Given the description of an element on the screen output the (x, y) to click on. 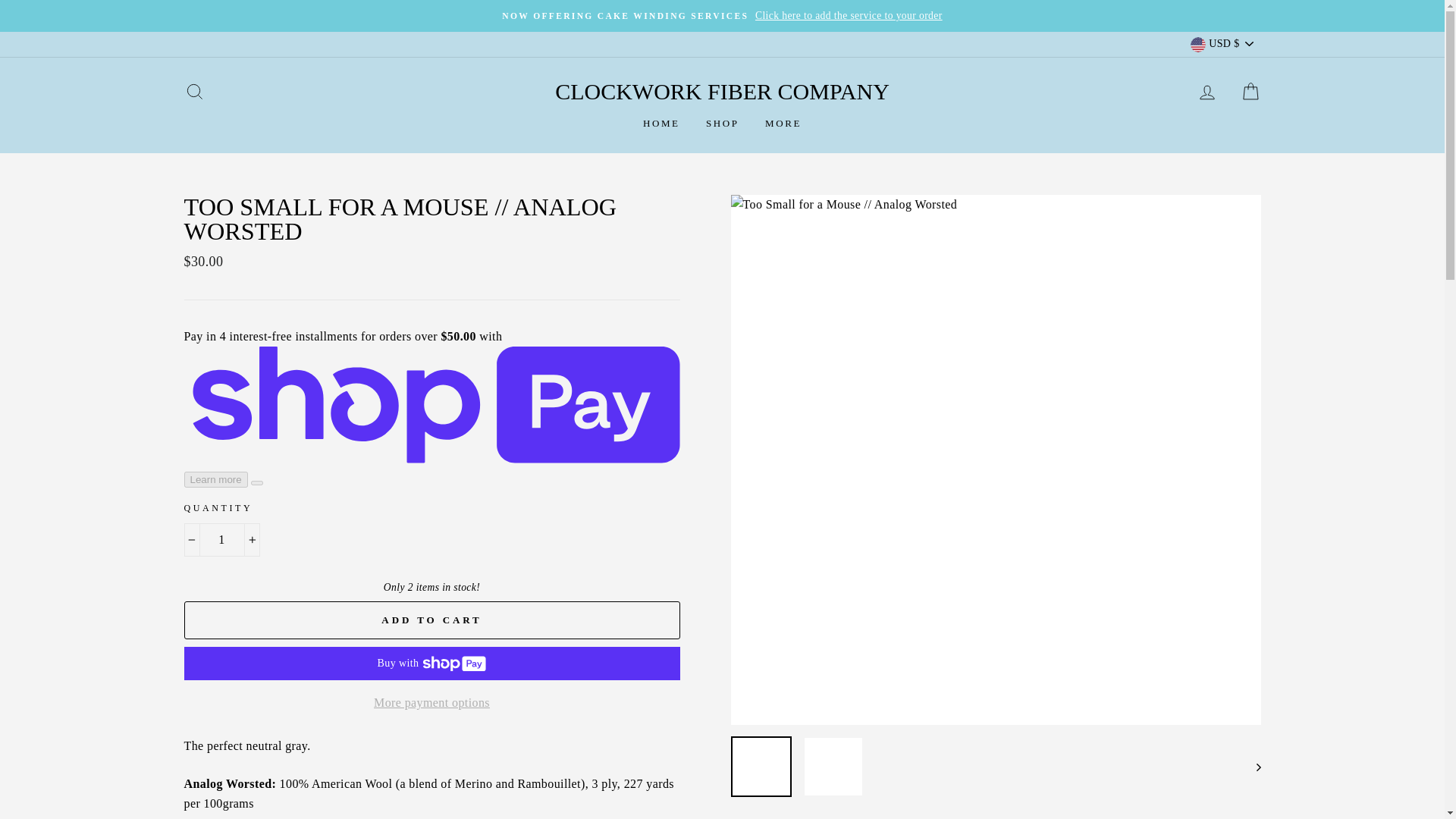
1 (221, 539)
